Given the description of an element on the screen output the (x, y) to click on. 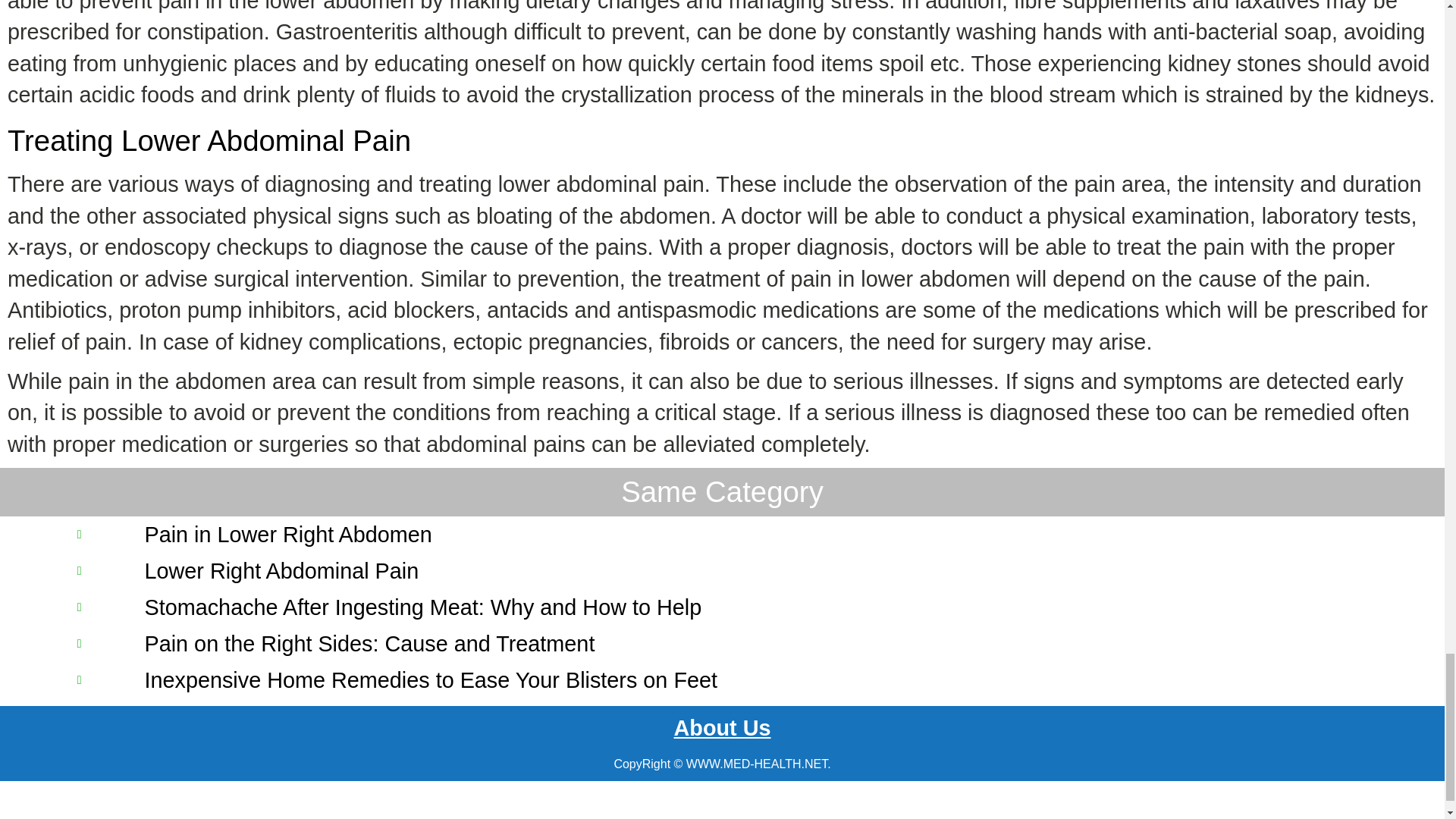
About Us (721, 727)
